Given the description of an element on the screen output the (x, y) to click on. 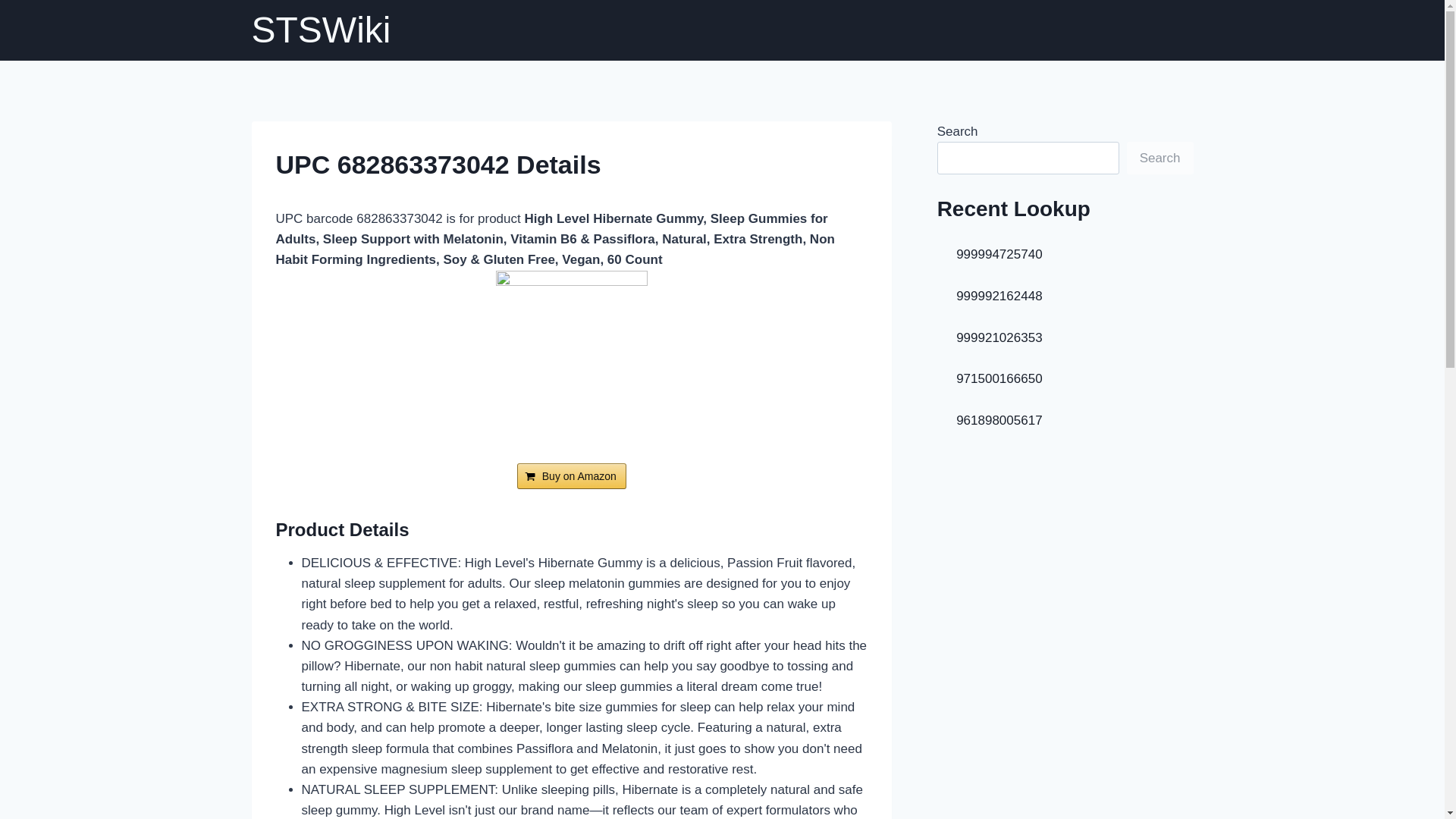
999994725740 (999, 254)
999992162448 (999, 296)
Search (1159, 157)
Buy on Amazon (571, 475)
STSWiki (321, 30)
999921026353 (999, 337)
Buy on Amazon (571, 475)
961898005617 (999, 420)
971500166650 (999, 378)
